Given the description of an element on the screen output the (x, y) to click on. 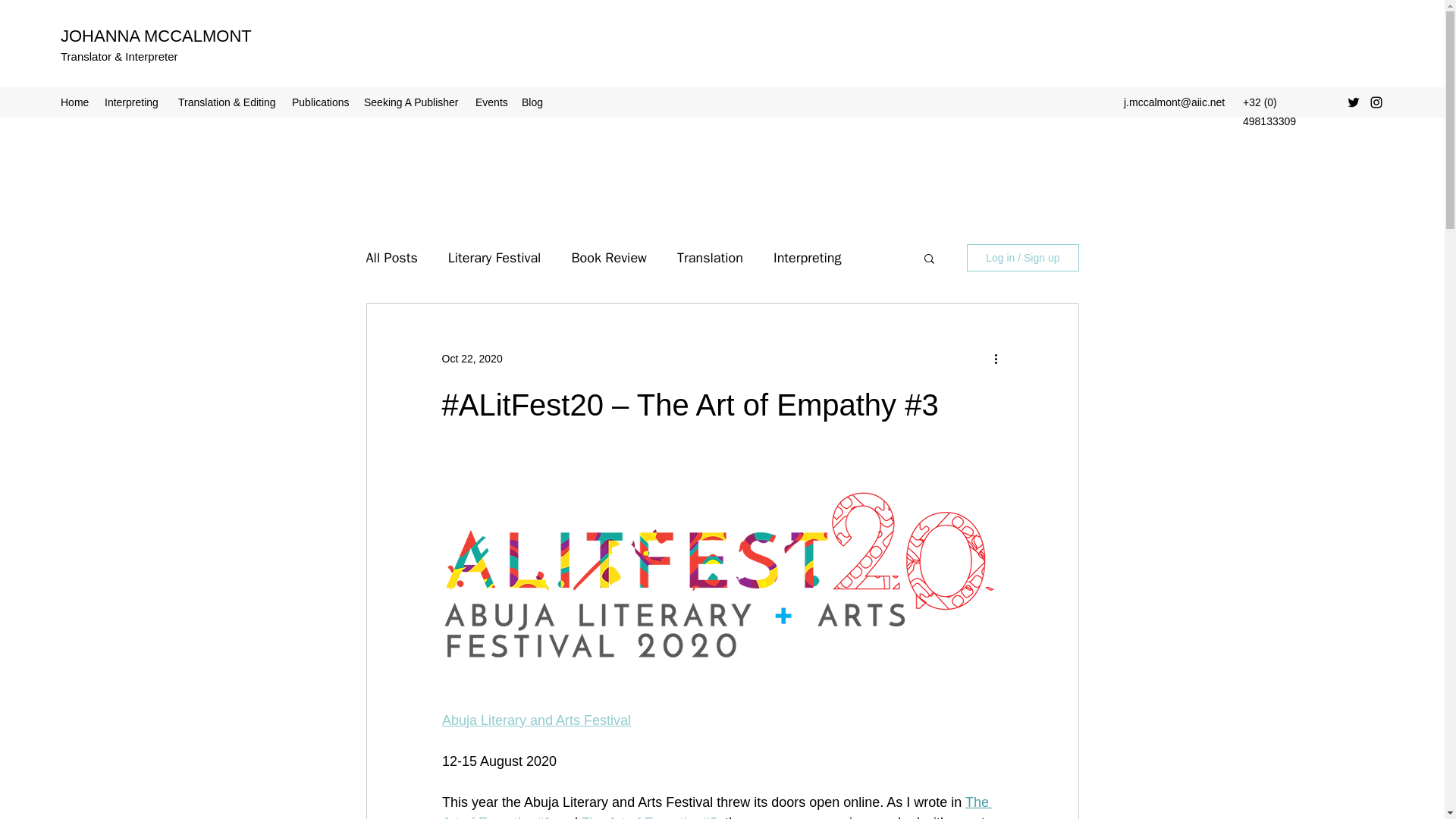
Blog (532, 101)
Oct 22, 2020 (471, 358)
The  (978, 801)
Publications (319, 101)
Translation (709, 257)
Seeking A Publisher (411, 101)
Home (74, 101)
Book Review (608, 257)
JOHANNA MCCALMONT (156, 35)
All Posts (390, 257)
Events (490, 101)
Interpreting (133, 101)
Literary Festival (494, 257)
Abuja Literary and Arts Festival (535, 720)
Interpreting (807, 257)
